Given the description of an element on the screen output the (x, y) to click on. 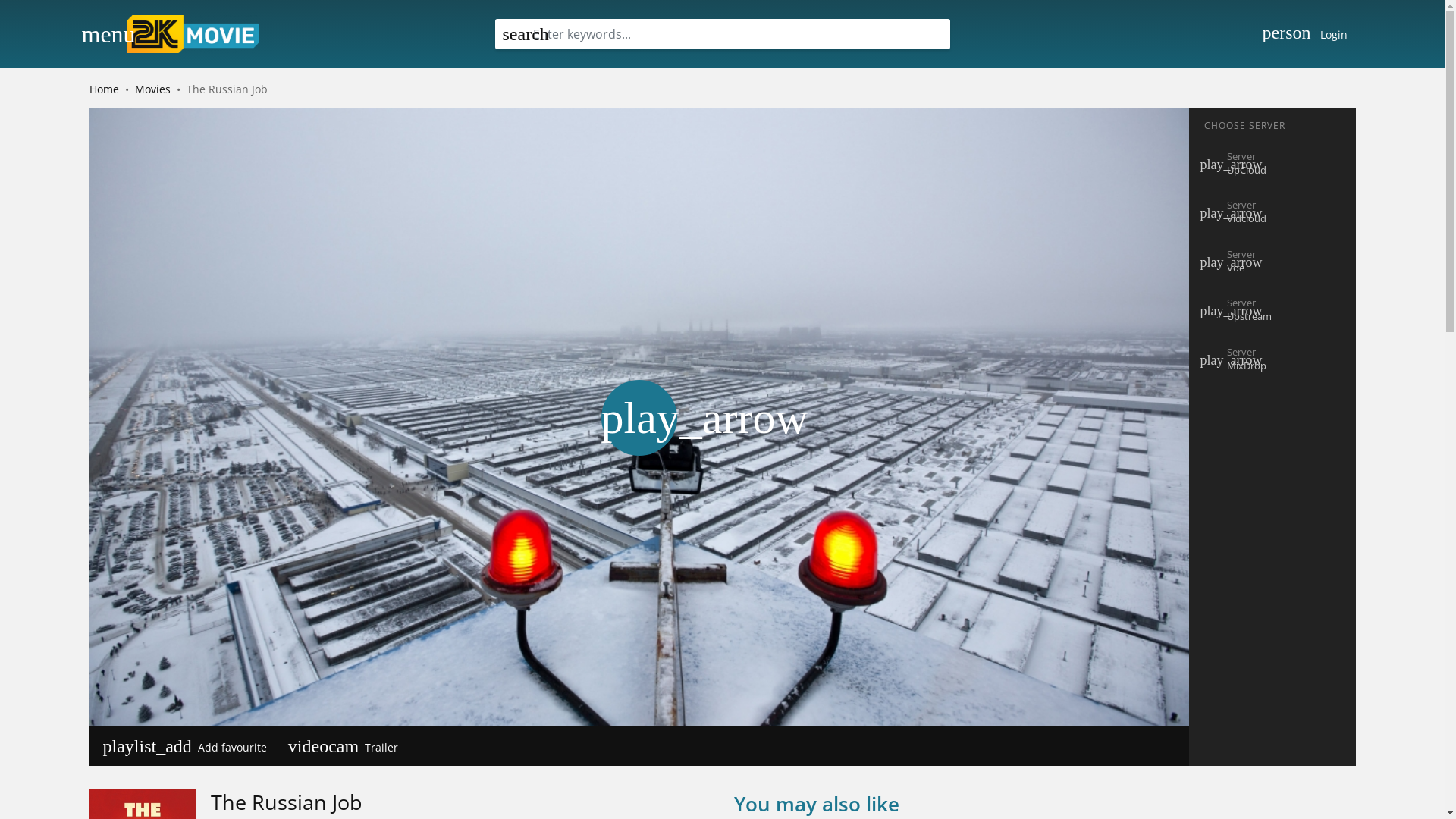
The Russian Job Element type: text (286, 801)
play_arrow
Voe Element type: text (1272, 262)
2kmovie.cc Element type: hover (193, 34)
Home Element type: text (104, 88)
person
Login Element type: text (1304, 34)
play_arrow
UpCloud Element type: text (1272, 164)
2kmovie.cc Element type: hover (196, 34)
play_arrow
Vidcloud Element type: text (1272, 213)
playlist_add
Add favourite Element type: text (185, 746)
play_arrow
Upstream Element type: text (1272, 311)
videocam
Trailer Element type: text (343, 746)
play_arrow
MixDrop Element type: text (1272, 360)
Movies Element type: text (152, 88)
play_arrow Element type: text (638, 417)
